Given the description of an element on the screen output the (x, y) to click on. 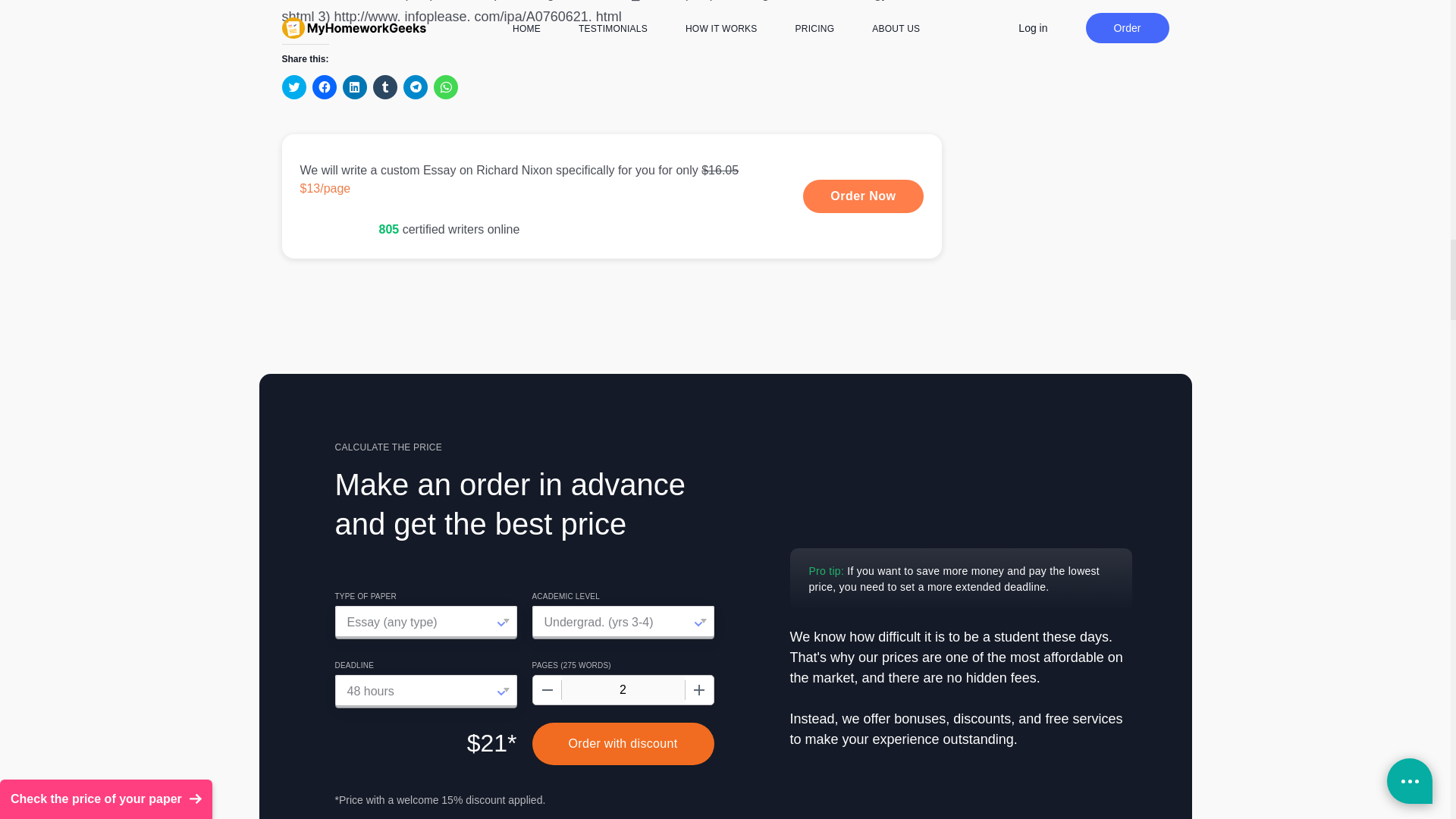
Check the price of your paper (106, 393)
Check the price of your paper (106, 393)
Learn More (863, 195)
Click to share on WhatsApp (445, 87)
Order with discount (623, 743)
Learn More (612, 196)
Click to share on Twitter (293, 87)
Increase (698, 689)
Decrease (546, 689)
Click to share on LinkedIn (354, 87)
Click to share on Telegram (415, 87)
Click to share on Facebook (324, 87)
2 (622, 689)
Click to share on Tumblr (384, 87)
